Given the description of an element on the screen output the (x, y) to click on. 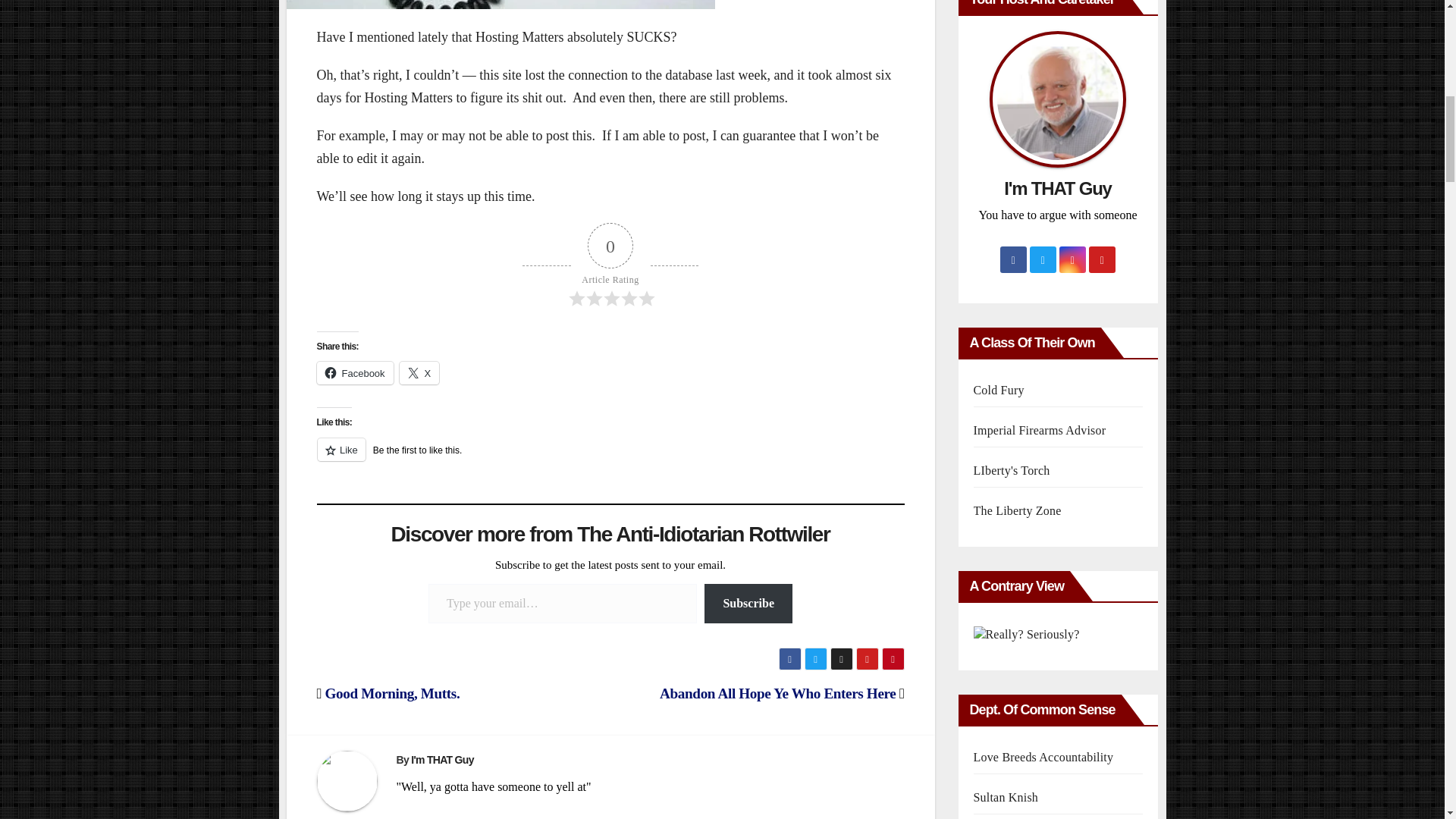
X (418, 372)
Facebook (355, 372)
Subscribe (748, 603)
